Given the description of an element on the screen output the (x, y) to click on. 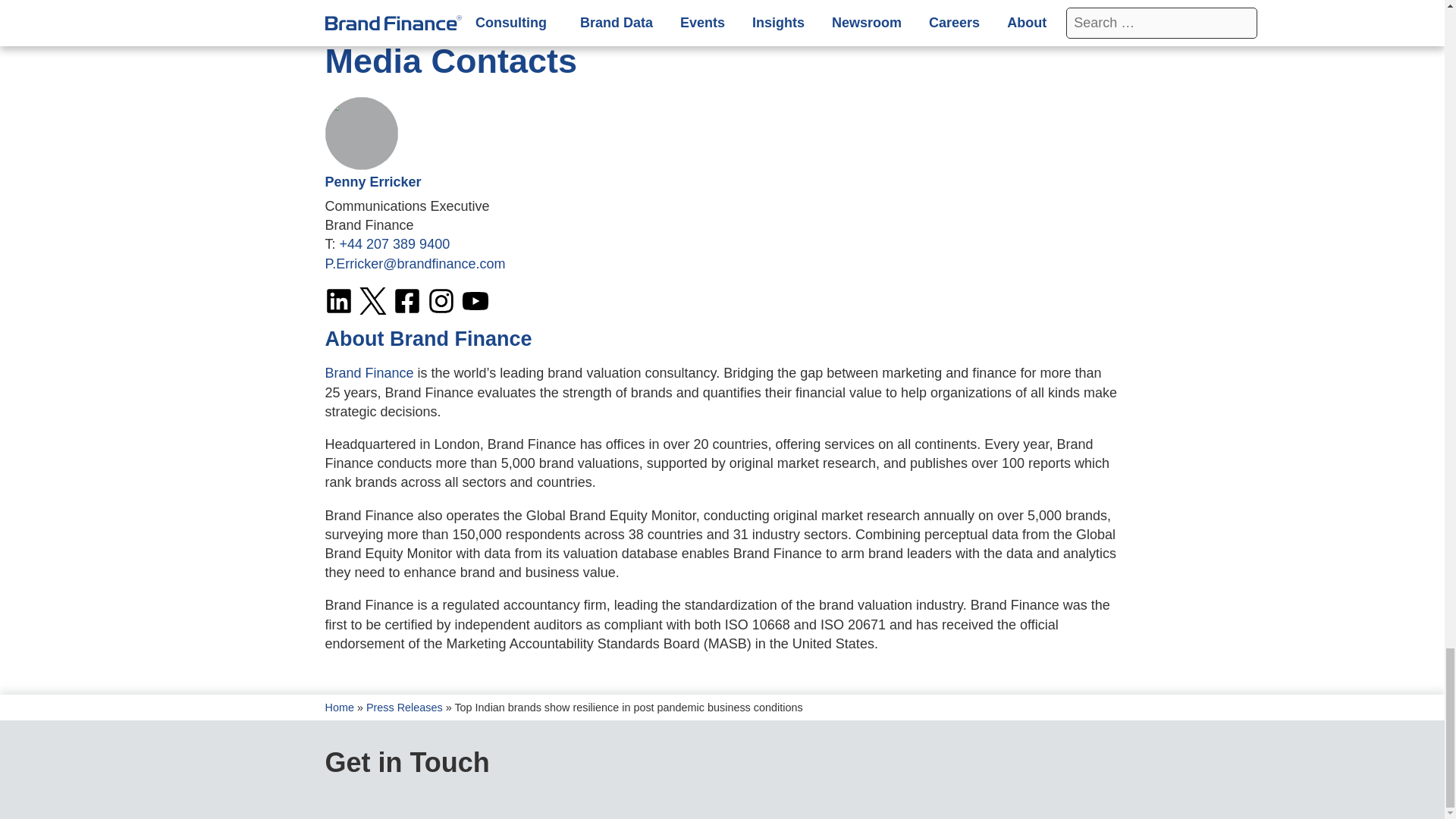
Brand Finance (368, 372)
Penny Erricker (372, 181)
Home (338, 707)
Instagram (441, 300)
Twitter (373, 300)
LinkedIn (338, 300)
Press Releases (404, 707)
Facebook (406, 300)
